Given the description of an element on the screen output the (x, y) to click on. 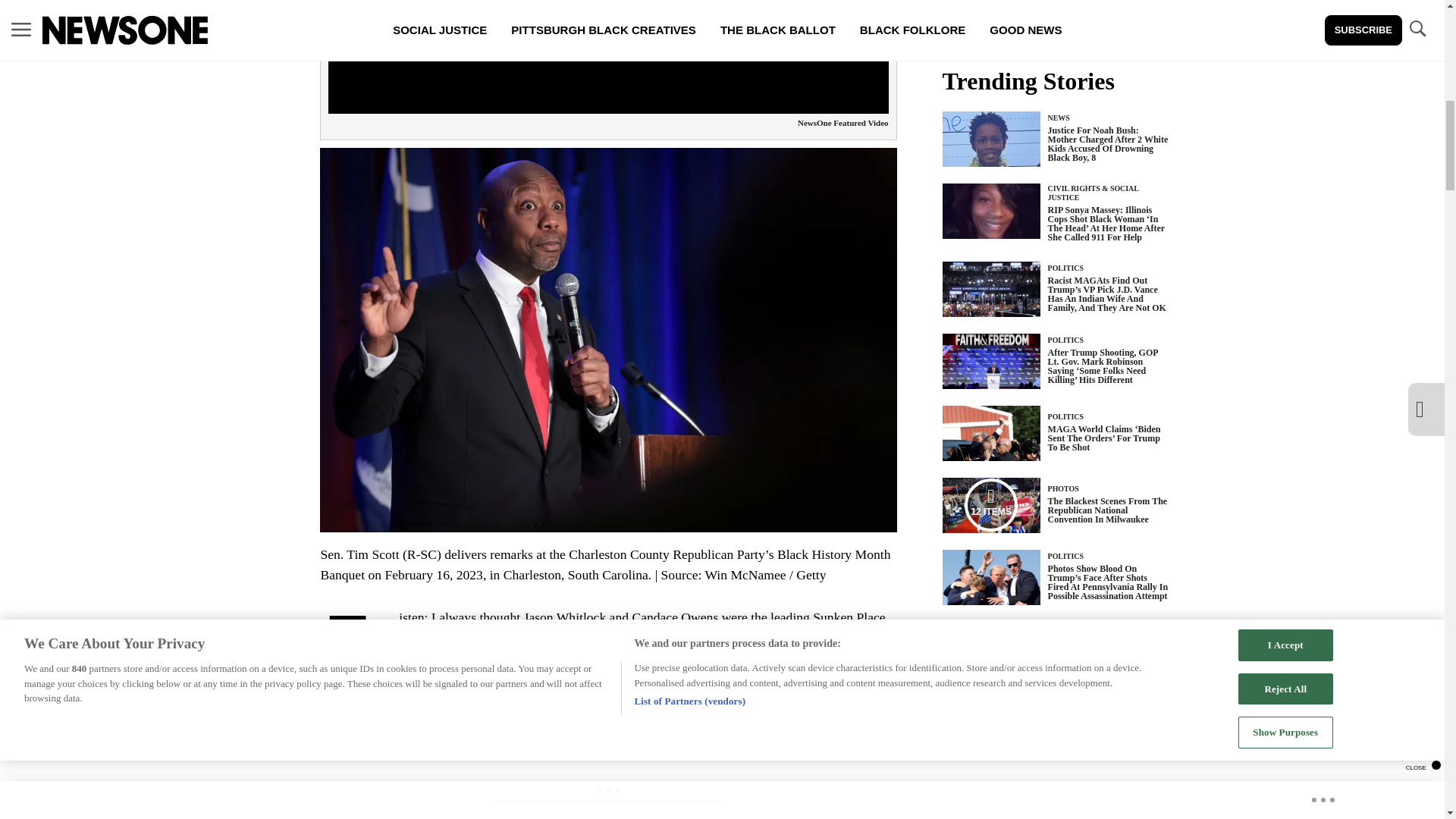
Media Playlist (990, 504)
Candace Owens (674, 616)
Clarence Thomas (656, 636)
Ben Carson (552, 636)
Herschel Walker (447, 657)
werewolf (477, 696)
Jason Whitlock (565, 616)
